Given the description of an element on the screen output the (x, y) to click on. 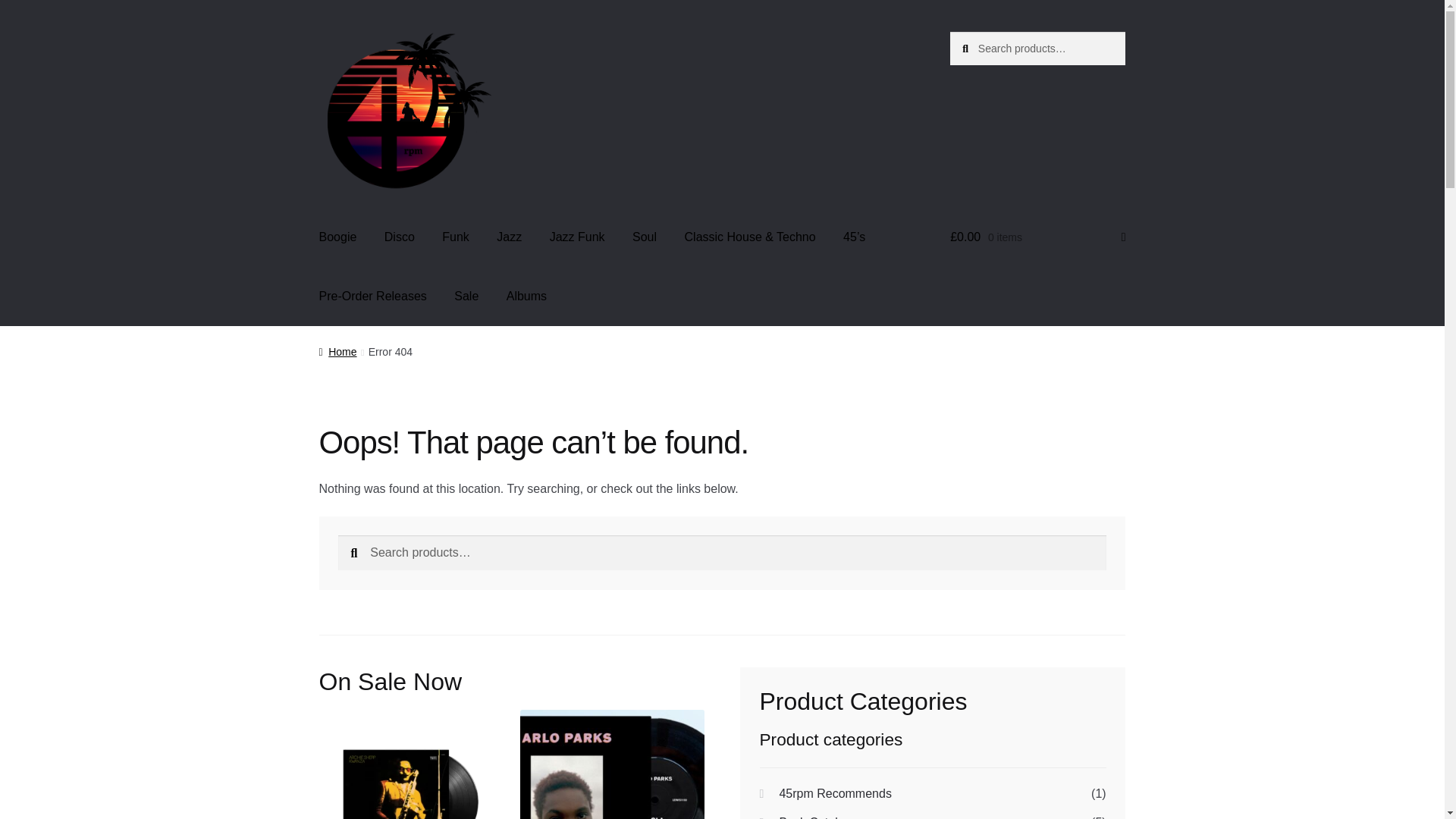
Boogie (338, 237)
Pre-Order Releases (373, 295)
Disco (399, 237)
Home (337, 351)
45rpm Recommends (834, 793)
Back Catalogue (821, 817)
View your shopping basket (1037, 237)
Jazz Funk (577, 237)
